Given the description of an element on the screen output the (x, y) to click on. 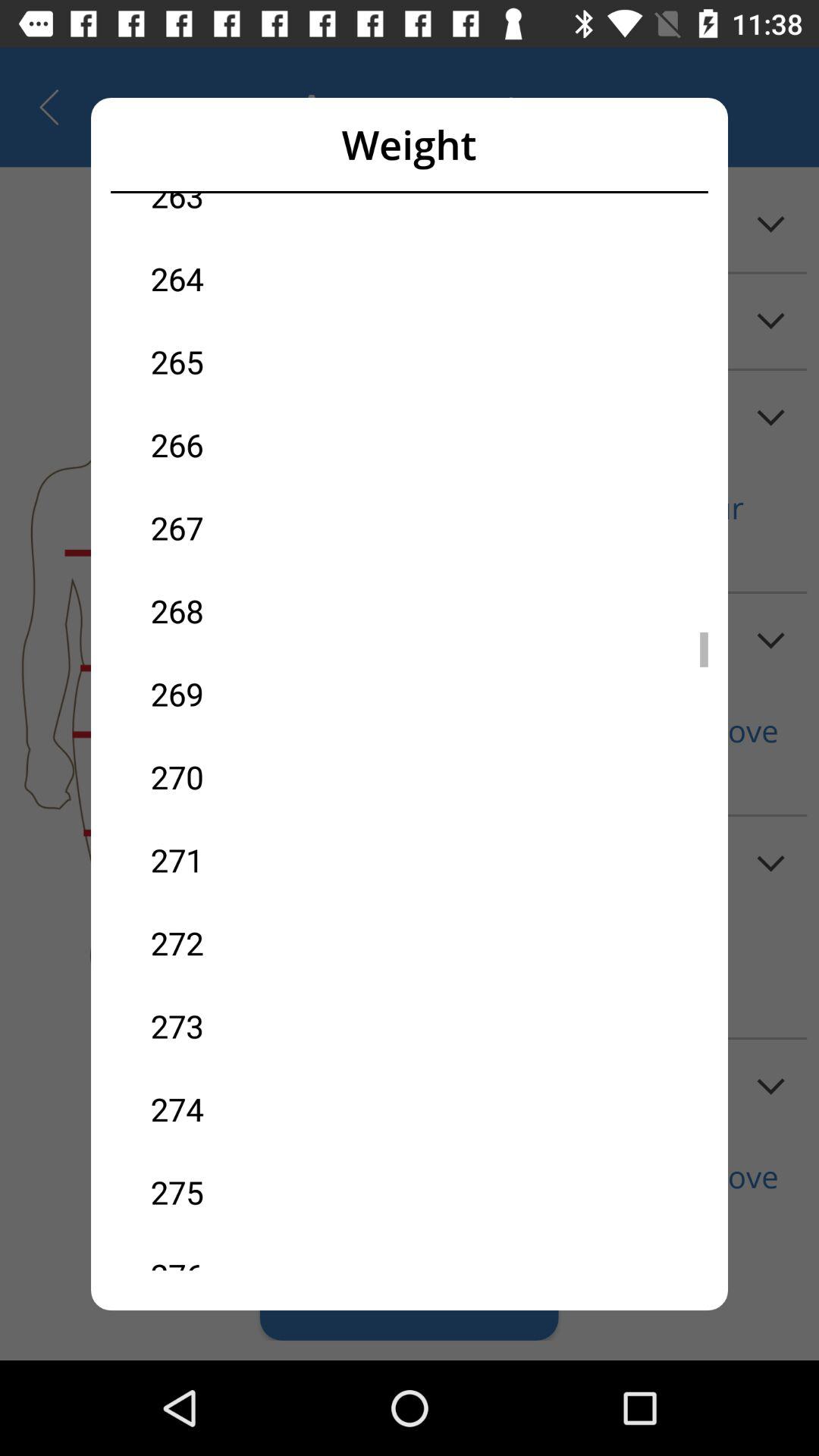
click the icon above 270 icon (279, 693)
